Given the description of an element on the screen output the (x, y) to click on. 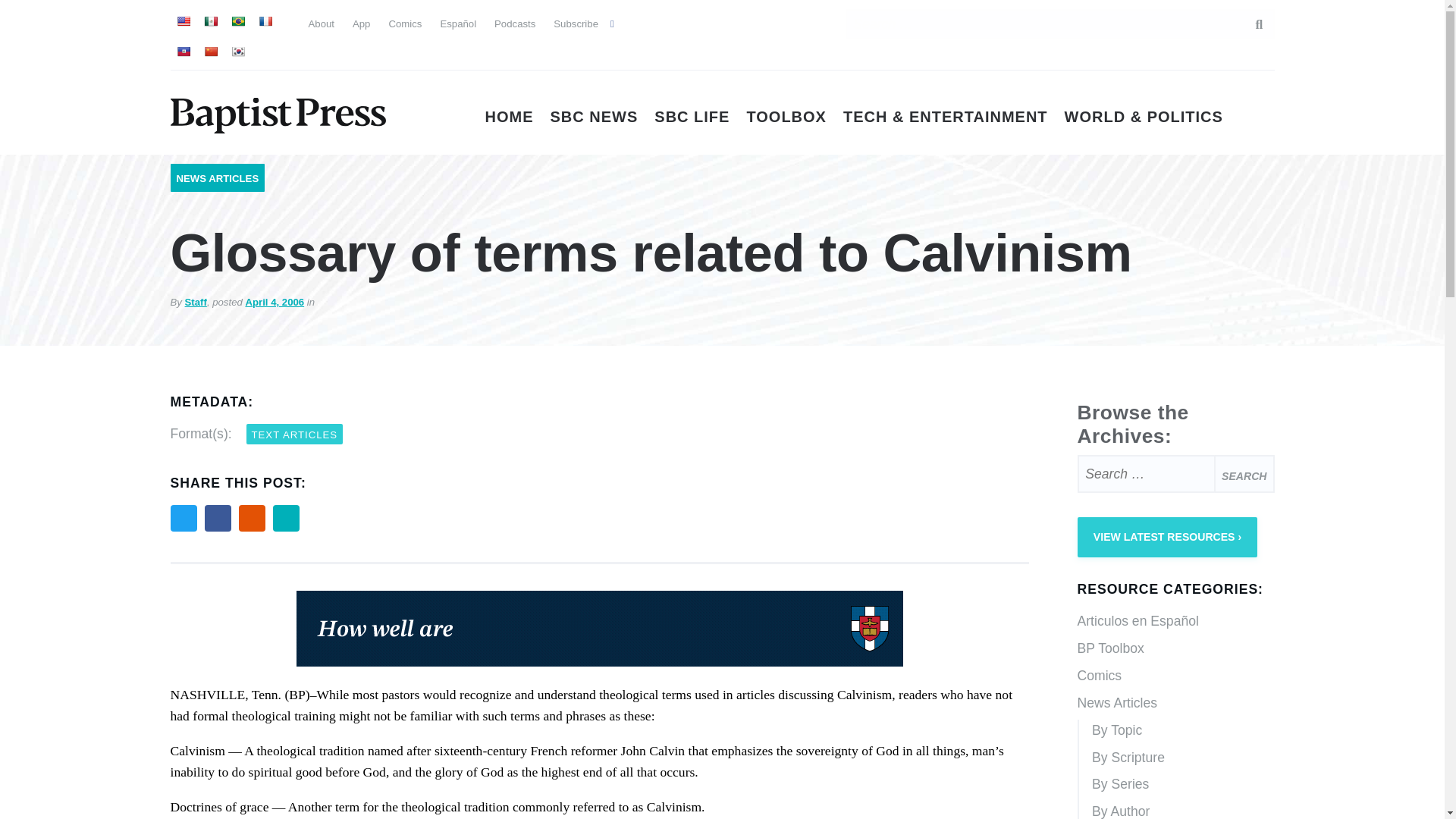
Korean (237, 51)
English (182, 21)
SBC NEWS (594, 116)
Haitian (182, 51)
BP Toolbox (1175, 649)
Portuguese (237, 21)
Staff (195, 301)
Search (1251, 24)
French (263, 21)
Search (1244, 474)
TEXT ARTICLES (294, 434)
TOOLBOX (786, 116)
About (320, 23)
VIEW LATEST RESOURCES (1167, 536)
App (360, 23)
